Given the description of an element on the screen output the (x, y) to click on. 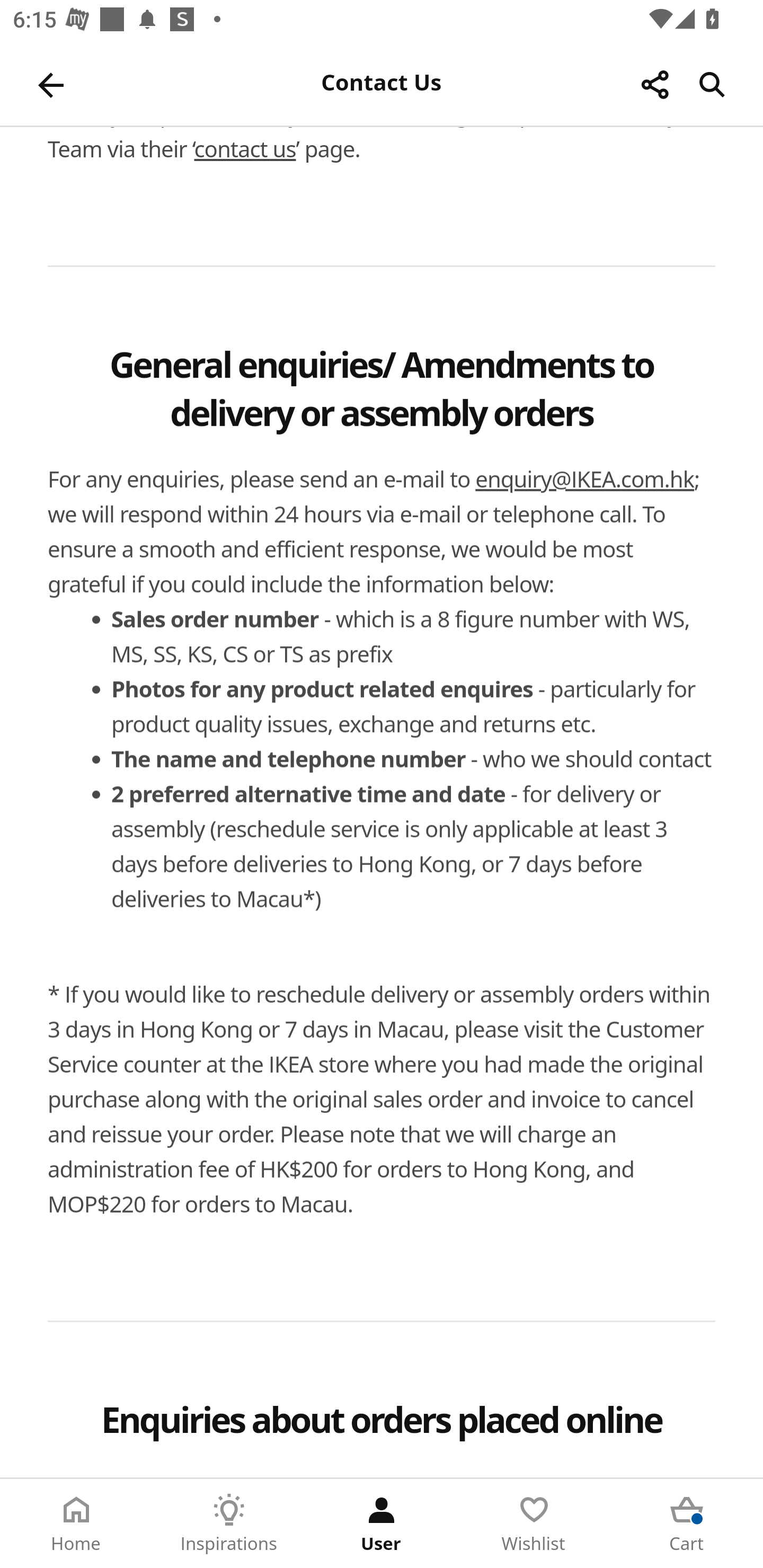
contact us (245, 148)
enquiry@IKEA.com.hk (584, 479)
Home
Tab 1 of 5 (76, 1522)
Inspirations
Tab 2 of 5 (228, 1522)
User
Tab 3 of 5 (381, 1522)
Wishlist
Tab 4 of 5 (533, 1522)
Cart
Tab 5 of 5 (686, 1522)
